Given the description of an element on the screen output the (x, y) to click on. 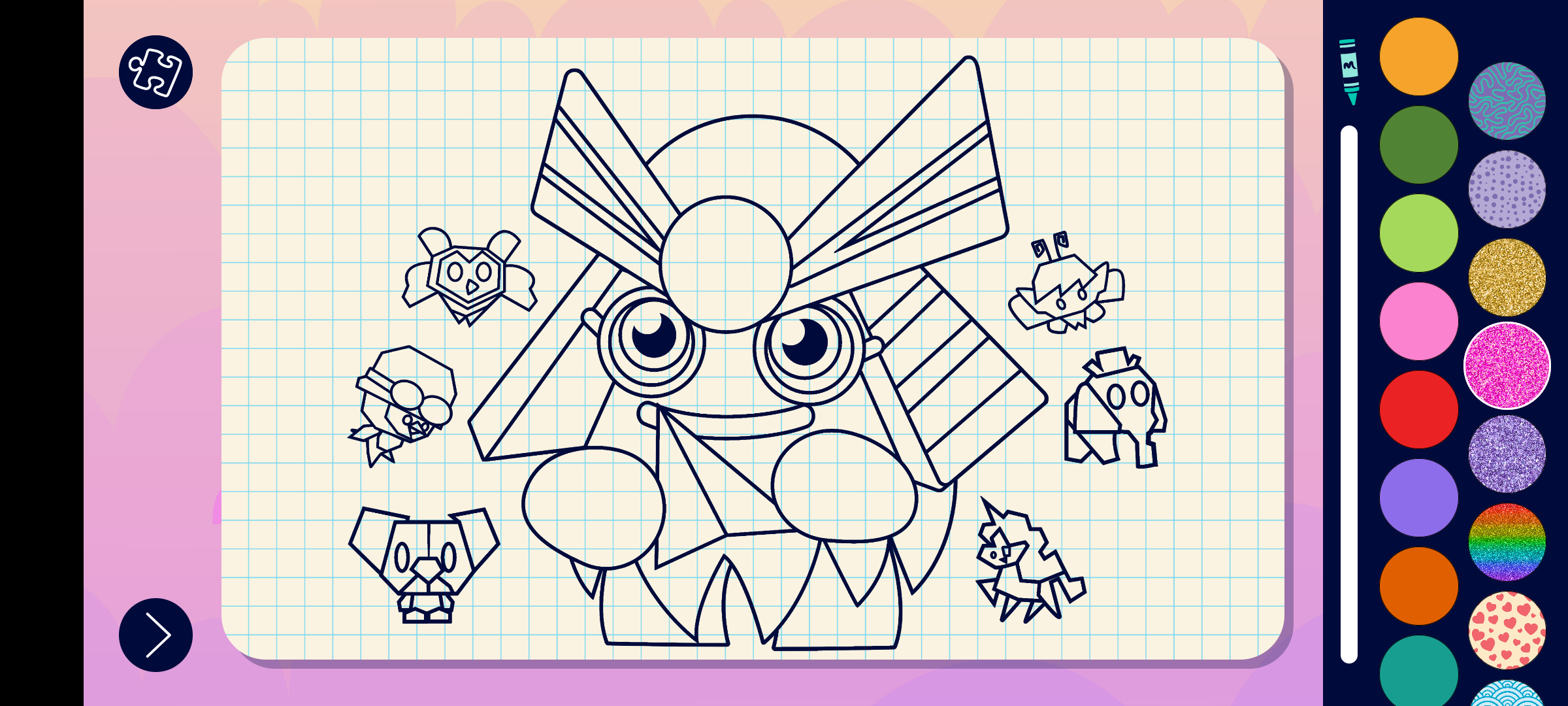
coloring background (1507, 101)
coloring background (1507, 189)
coloring background (1507, 277)
coloring background (1506, 365)
coloring background (1507, 454)
coloring background (1507, 542)
coloring background (1507, 630)
